Given the description of an element on the screen output the (x, y) to click on. 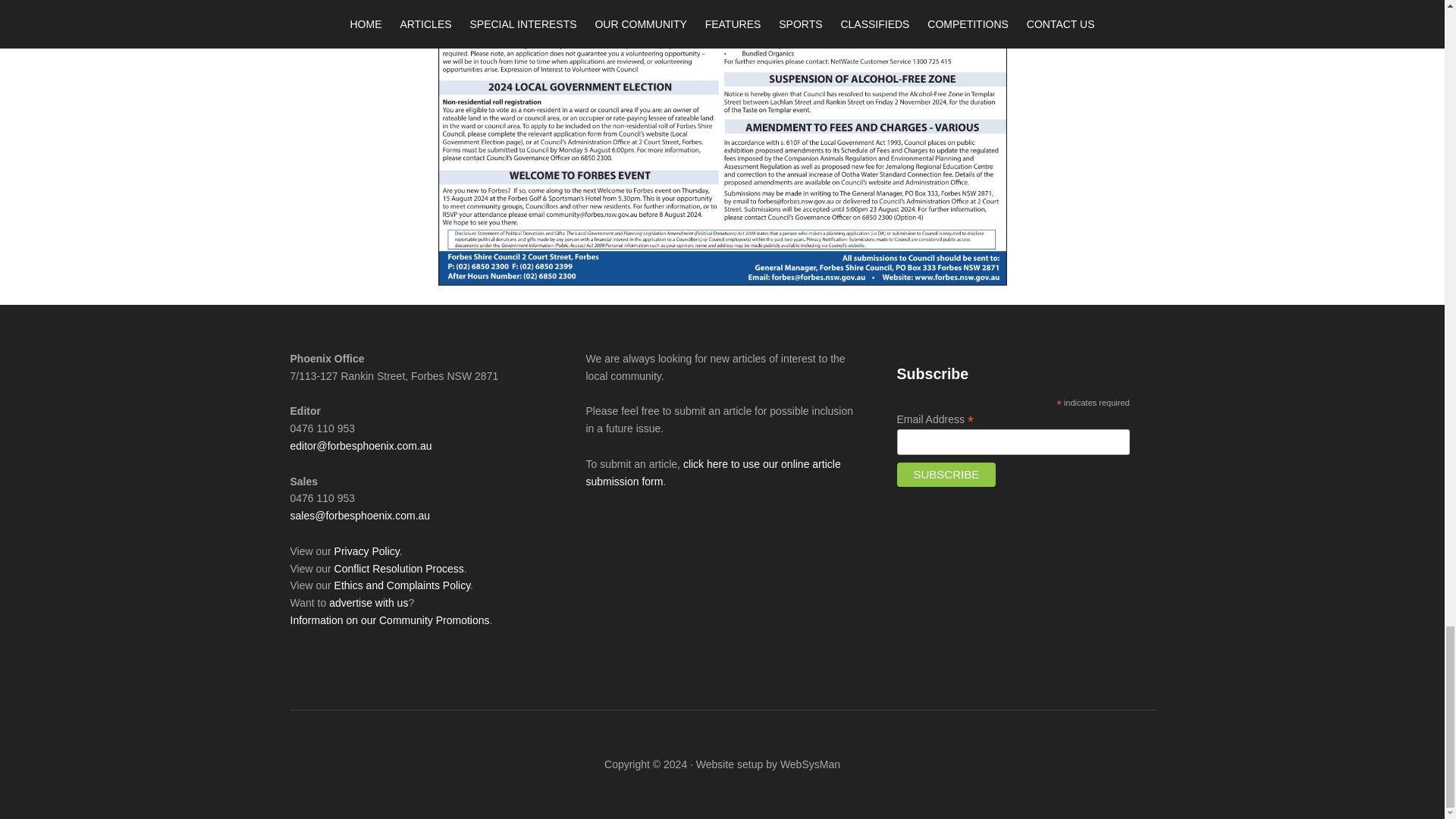
Conflict Resolution Process (399, 568)
Submit an Article (712, 472)
Privacy Policy (366, 551)
Subscribe (945, 474)
Advertise with Us (368, 603)
Ethics and Complaints Policy (402, 585)
